Given the description of an element on the screen output the (x, y) to click on. 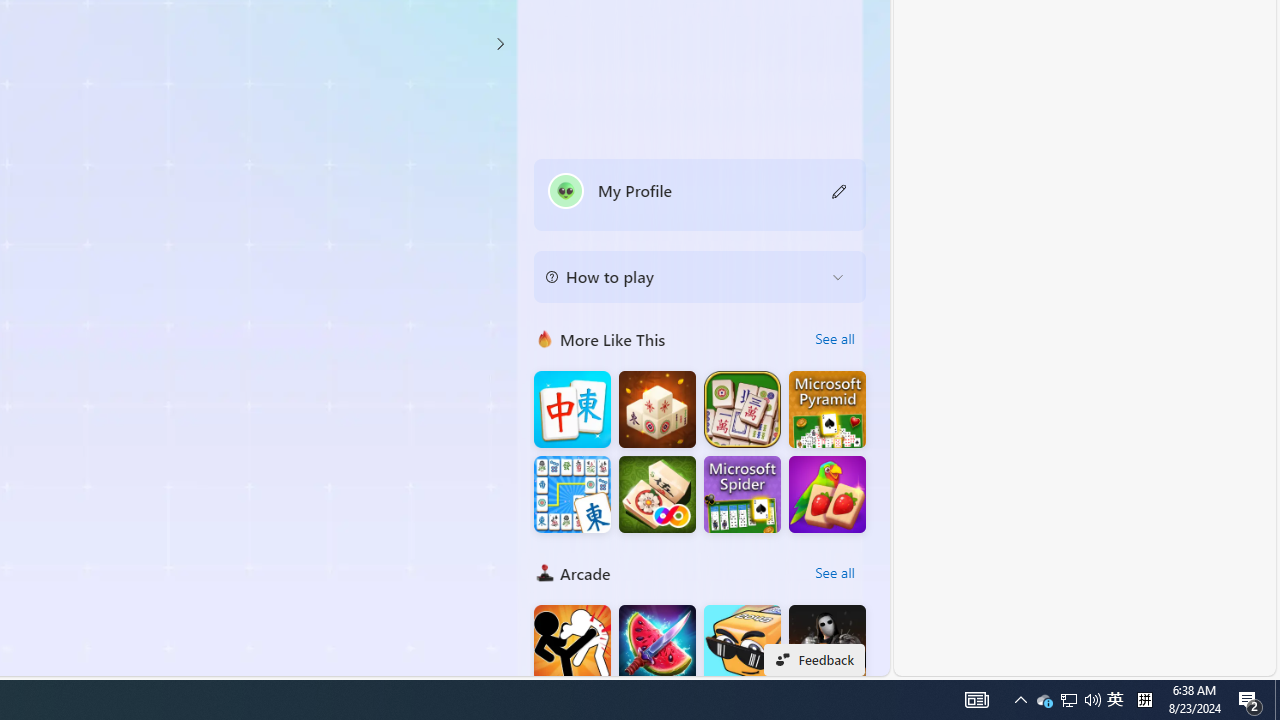
Microsoft Pyramid Solitaire (827, 409)
Hunter Hitman (827, 643)
Cubes2048 (742, 643)
More Like This (544, 338)
Arcade (544, 572)
Microsoft Spider Solitaire (742, 494)
